Given the description of an element on the screen output the (x, y) to click on. 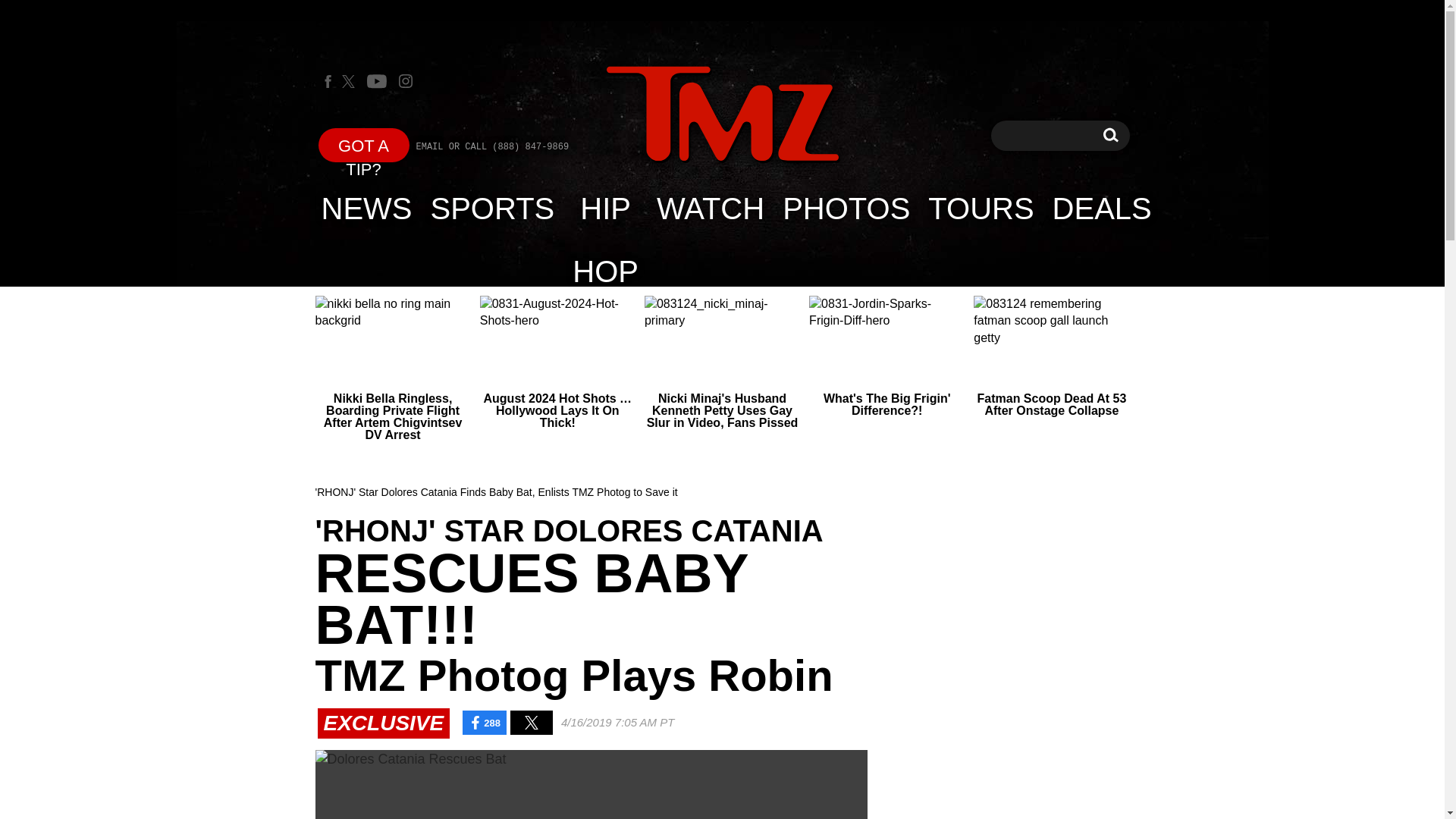
TOURS (980, 207)
GOT A TIP? (363, 144)
SPORTS (493, 207)
DEALS (1101, 207)
NEWS (367, 207)
WATCH (710, 207)
Search (1110, 134)
TMZ (722, 113)
HIP HOP (1110, 135)
